Given the description of an element on the screen output the (x, y) to click on. 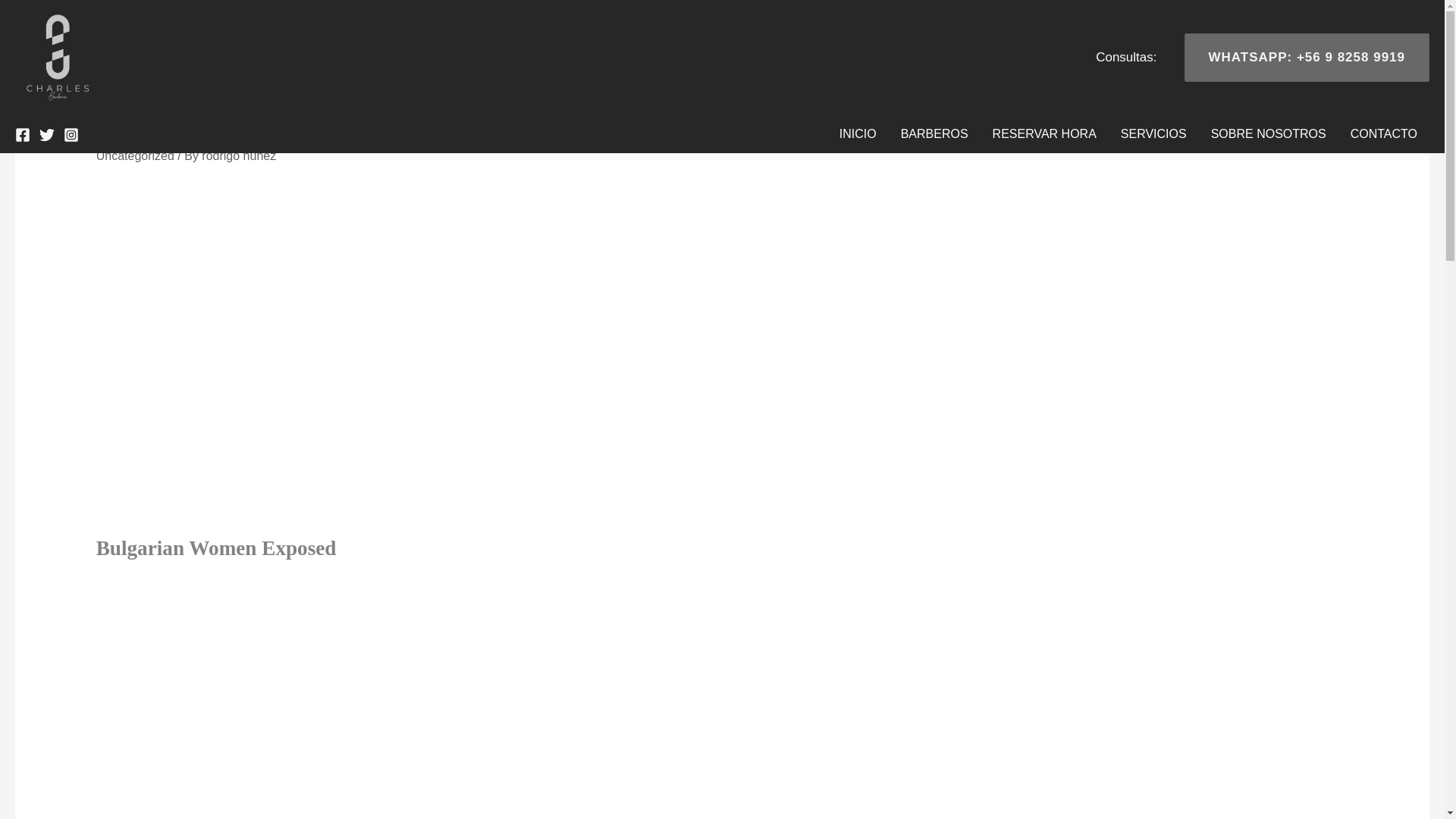
SOBRE NOSOTROS (1268, 134)
CONTACTO (1383, 134)
SERVICIOS (1153, 134)
Uncategorized (135, 155)
View all posts by rodrigo nunez (239, 155)
rodrigo nunez (239, 155)
INICIO (857, 134)
BARBEROS (933, 134)
RESERVAR HORA (1043, 134)
